Given the description of an element on the screen output the (x, y) to click on. 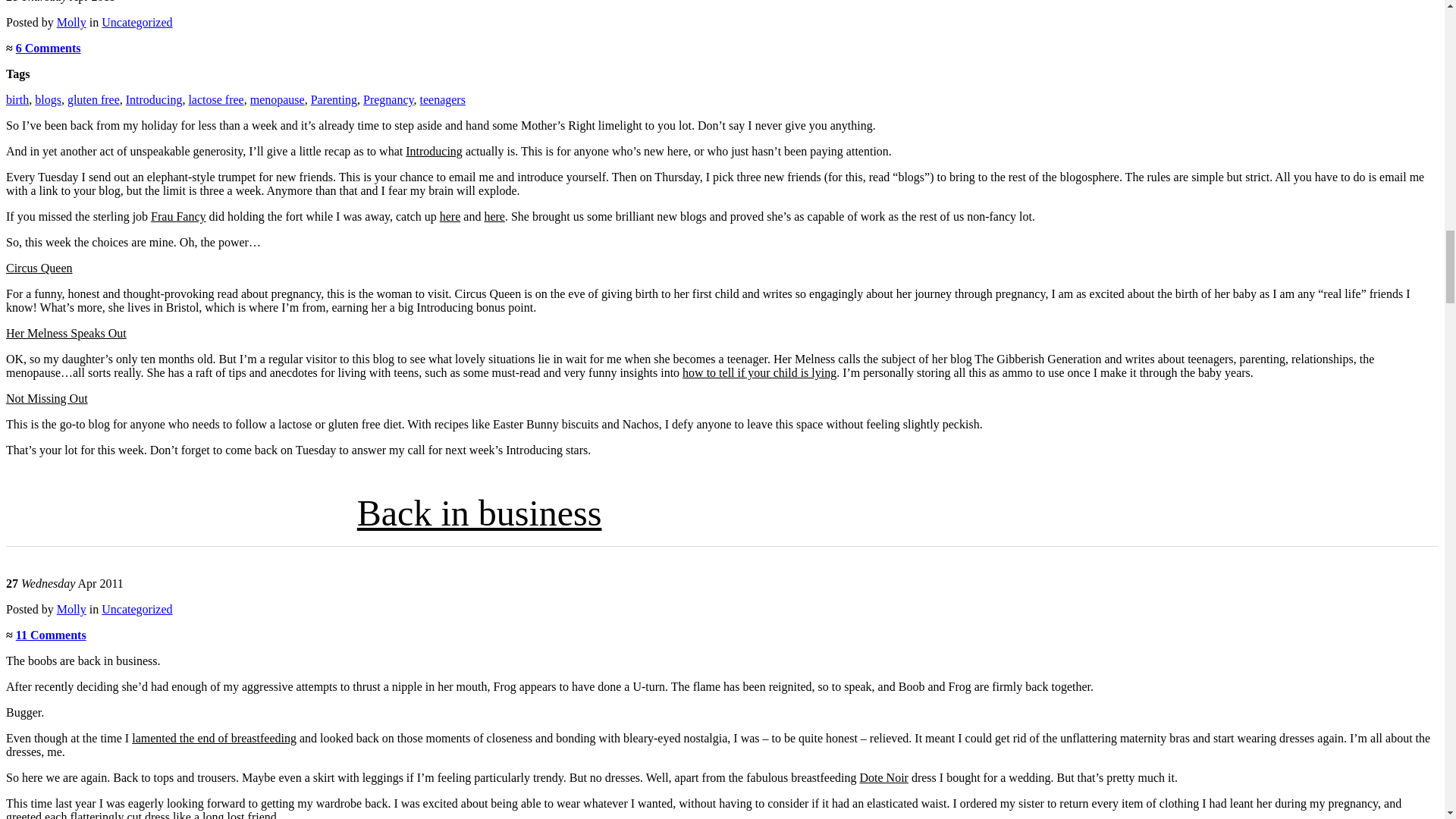
Molly (70, 21)
View all posts by Molly (70, 21)
Comment on Introducing: The home edition (48, 47)
View all posts in Uncategorized (136, 21)
